Given the description of an element on the screen output the (x, y) to click on. 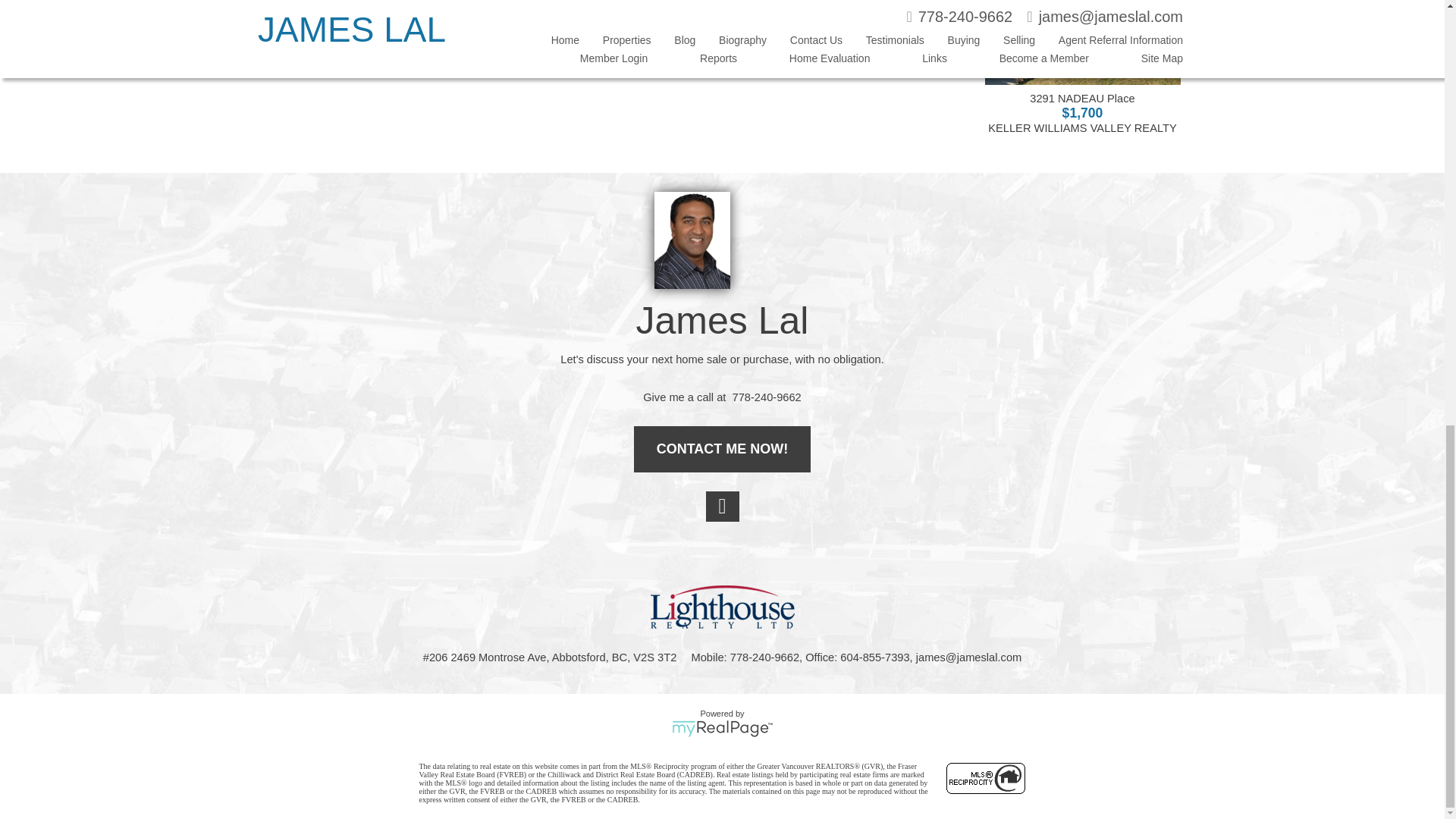
myRealPage.com (722, 728)
CONTACT ME NOW! (721, 448)
